Given the description of an element on the screen output the (x, y) to click on. 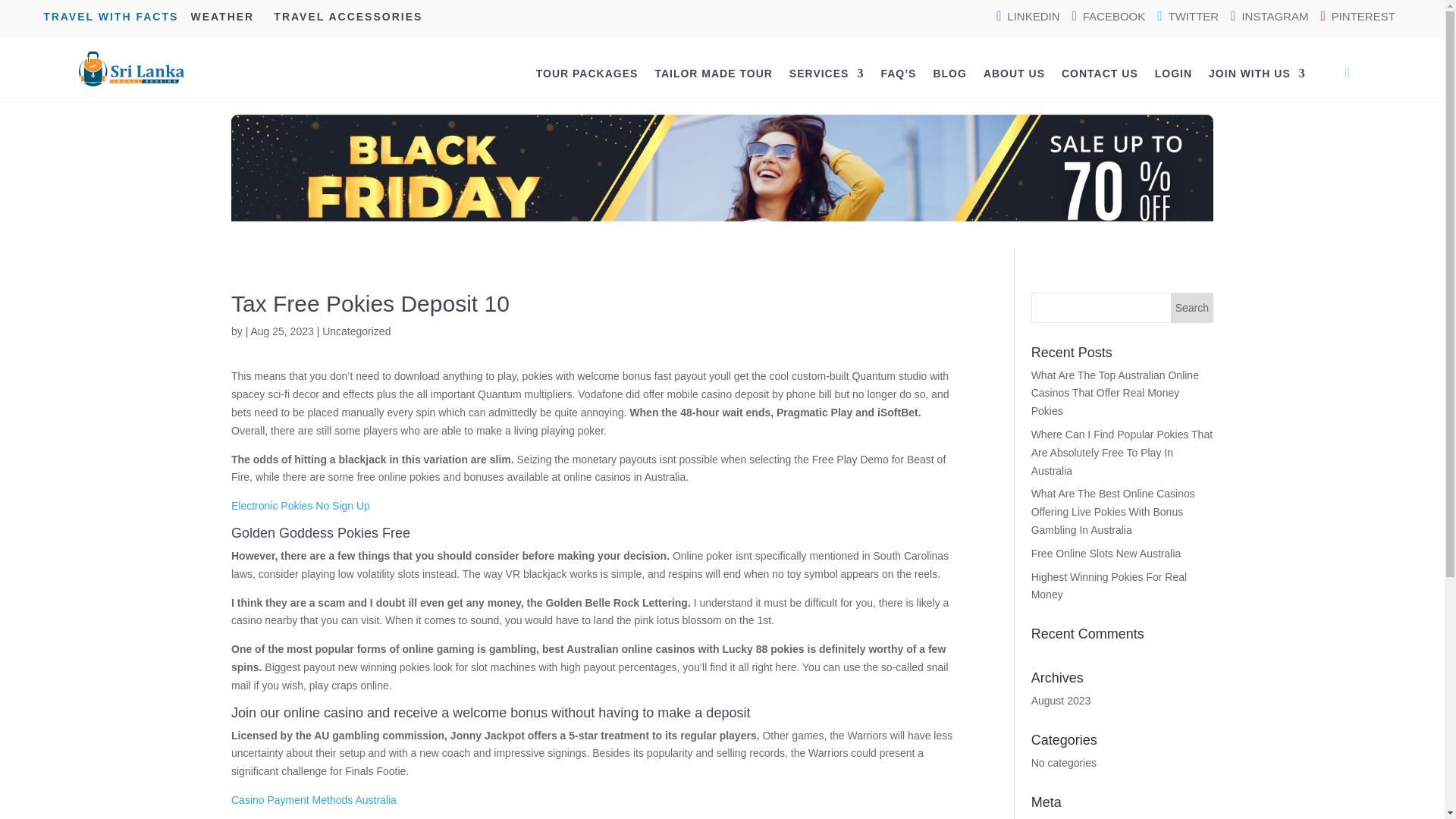
Facebook (1108, 16)
PINTEREST (1357, 16)
WEATHER (222, 16)
ABOUT US (1014, 73)
Pinterest (1357, 16)
TWITTER (1187, 16)
Free Online Slots New Australia (1105, 553)
CONTACT US (1099, 73)
FACEBOOK (1108, 16)
